Given the description of an element on the screen output the (x, y) to click on. 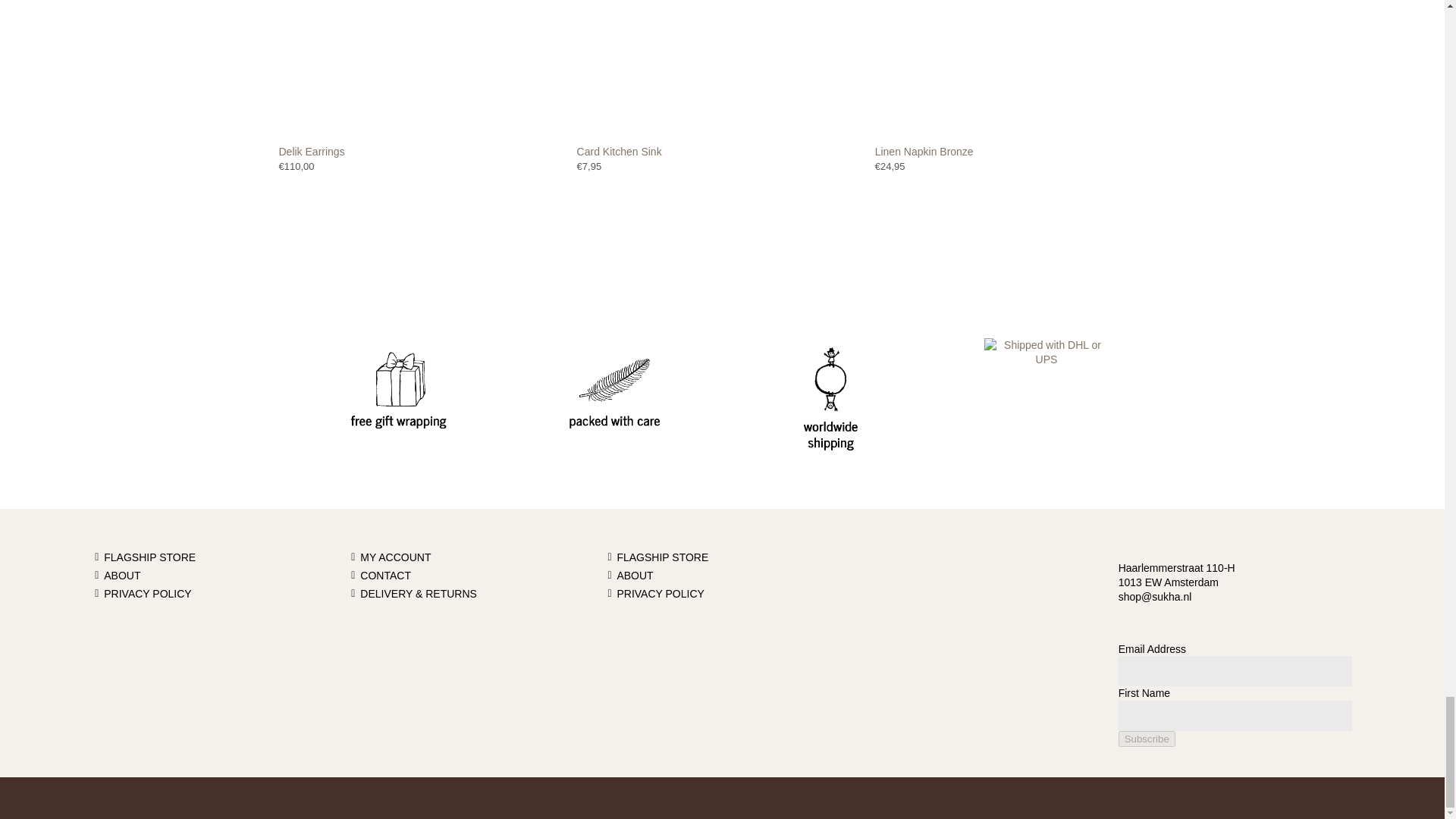
Packed with care (614, 400)
Shipped with DHL or UPS (1046, 352)
Worldwide shipping (829, 400)
Free gift wrapping (397, 400)
